Given the description of an element on the screen output the (x, y) to click on. 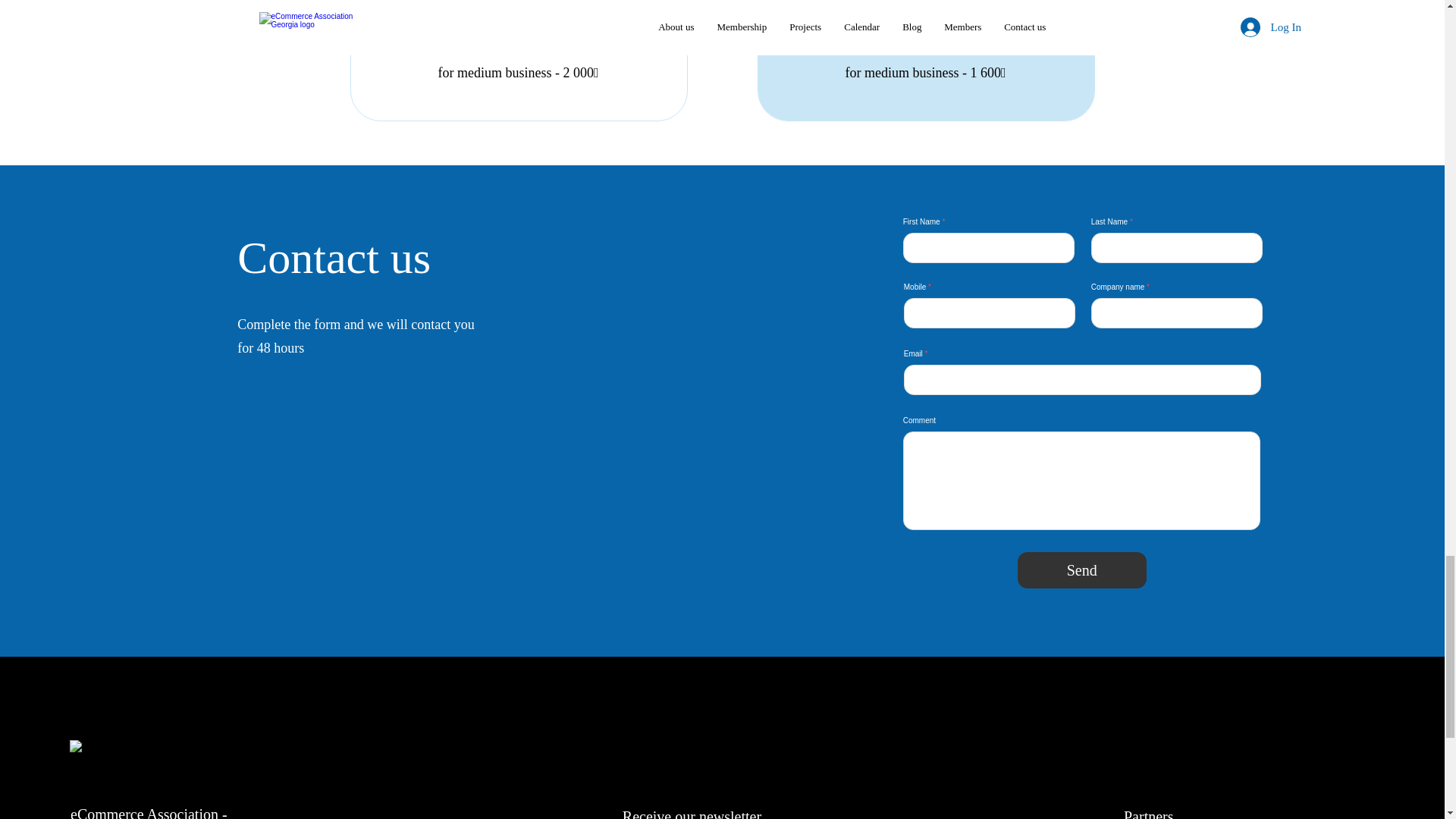
Send (1082, 570)
